Given the description of an element on the screen output the (x, y) to click on. 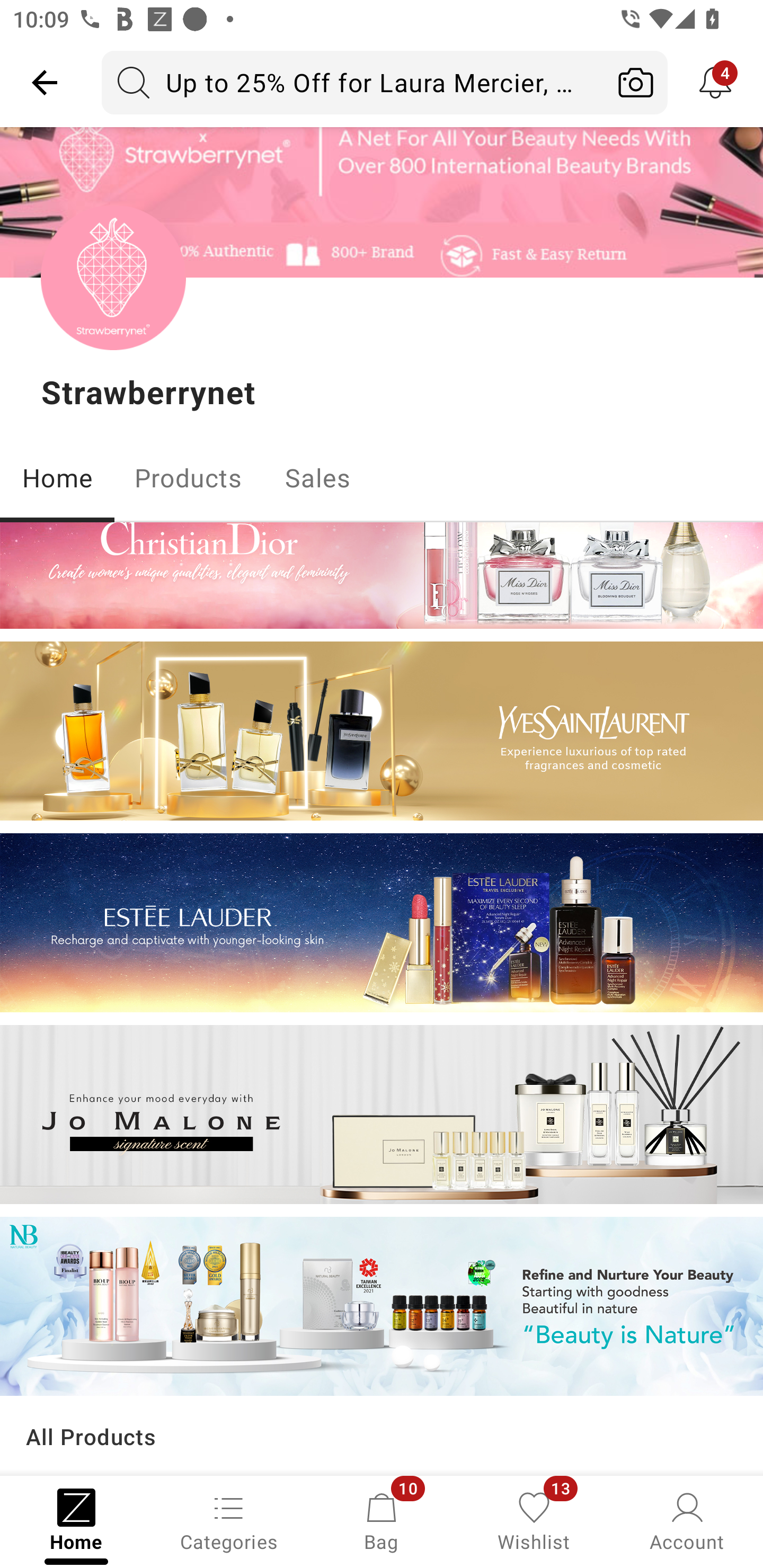
Navigate up (44, 82)
Products (187, 477)
Sales (317, 477)
Categories (228, 1519)
Bag, 10 new notifications Bag (381, 1519)
Wishlist, 13 new notifications Wishlist (533, 1519)
Account (686, 1519)
